Given the description of an element on the screen output the (x, y) to click on. 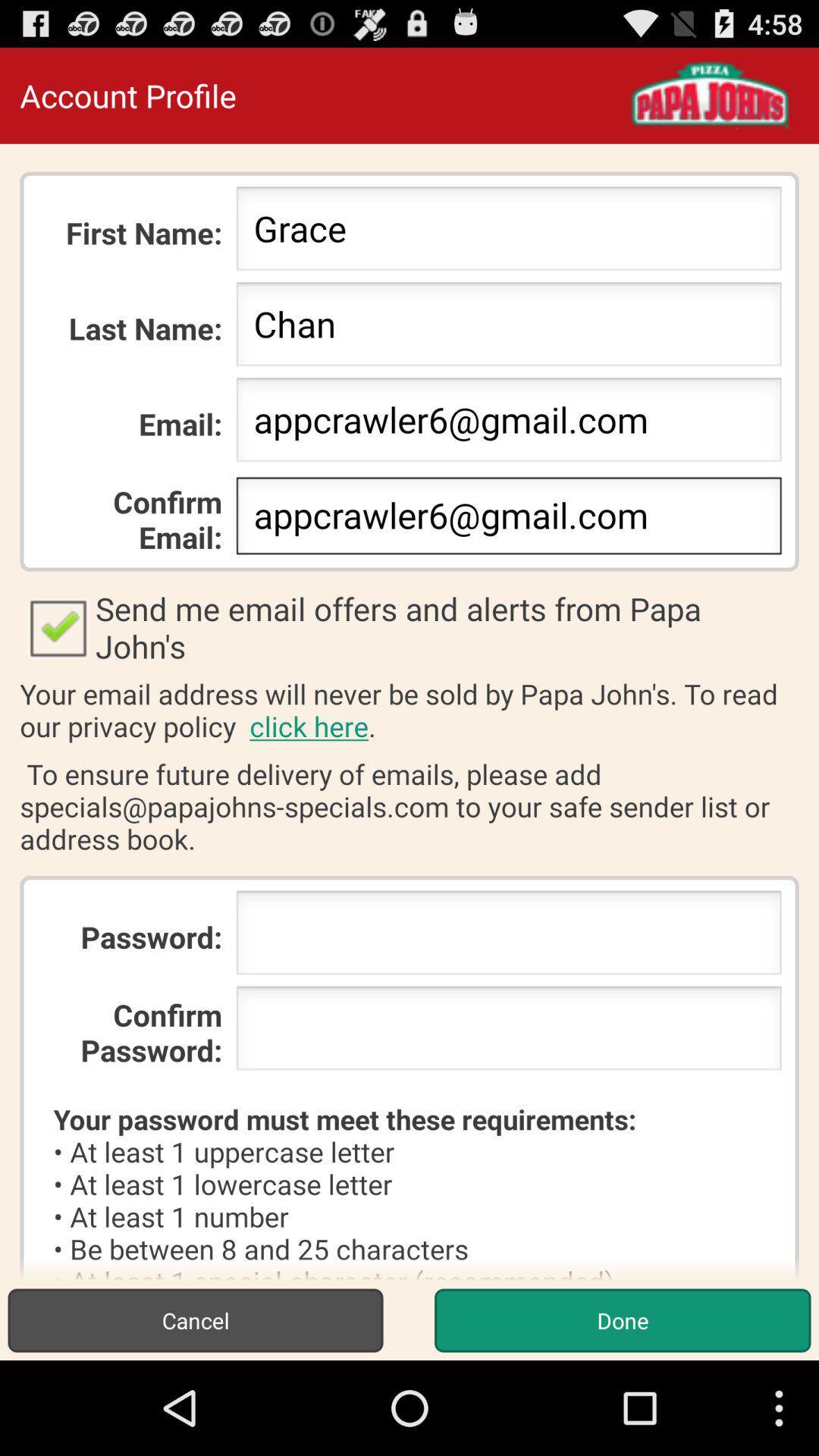
enter your password (508, 937)
